Given the description of an element on the screen output the (x, y) to click on. 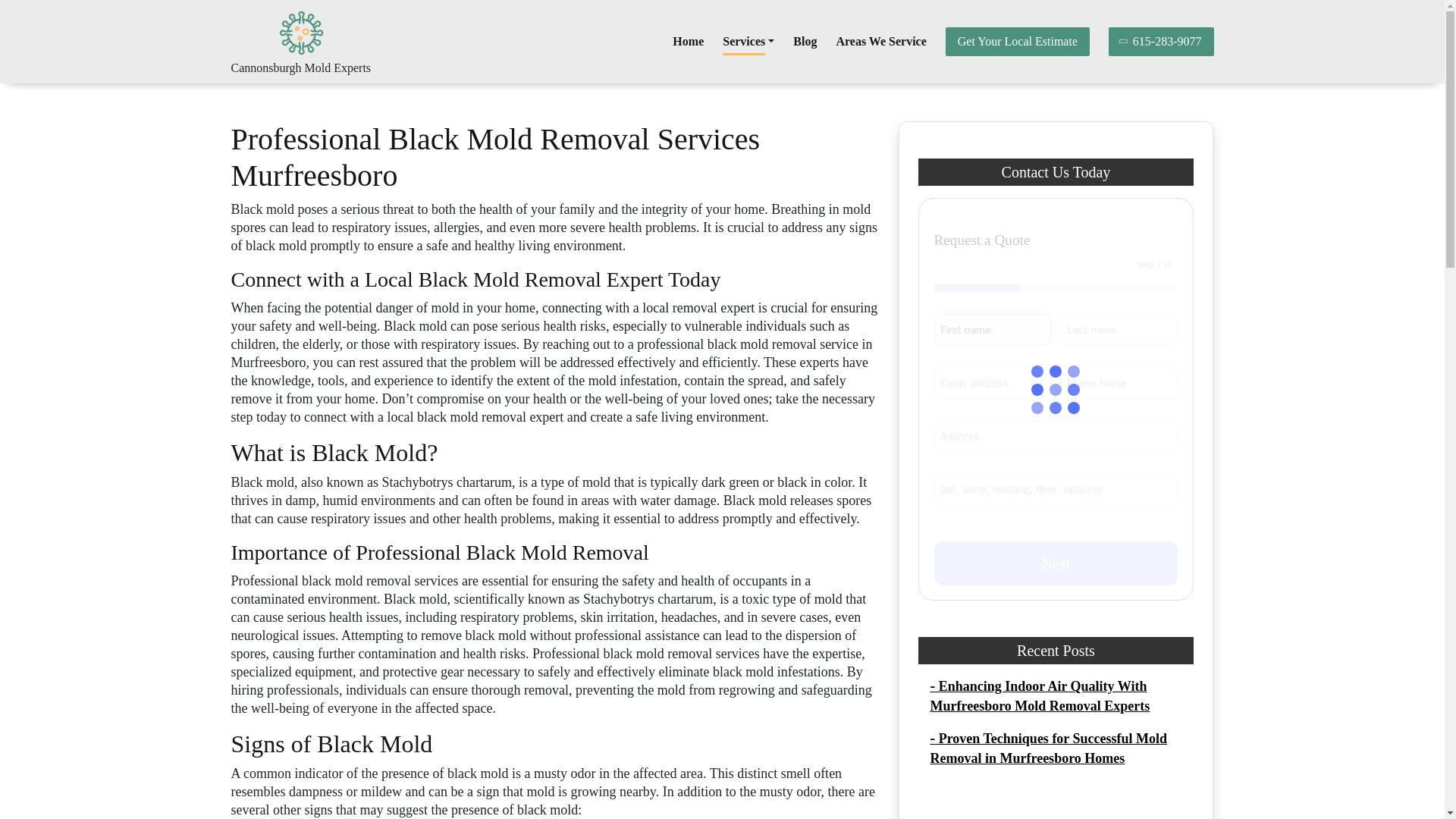
Next (1055, 563)
Areas We Service (880, 41)
Services (748, 41)
Home (687, 41)
615-283-9077 (1161, 41)
Services (748, 41)
Cannonsburgh Mold Experts (300, 67)
Get Your Local Estimate (1016, 41)
Home (687, 41)
